Given the description of an element on the screen output the (x, y) to click on. 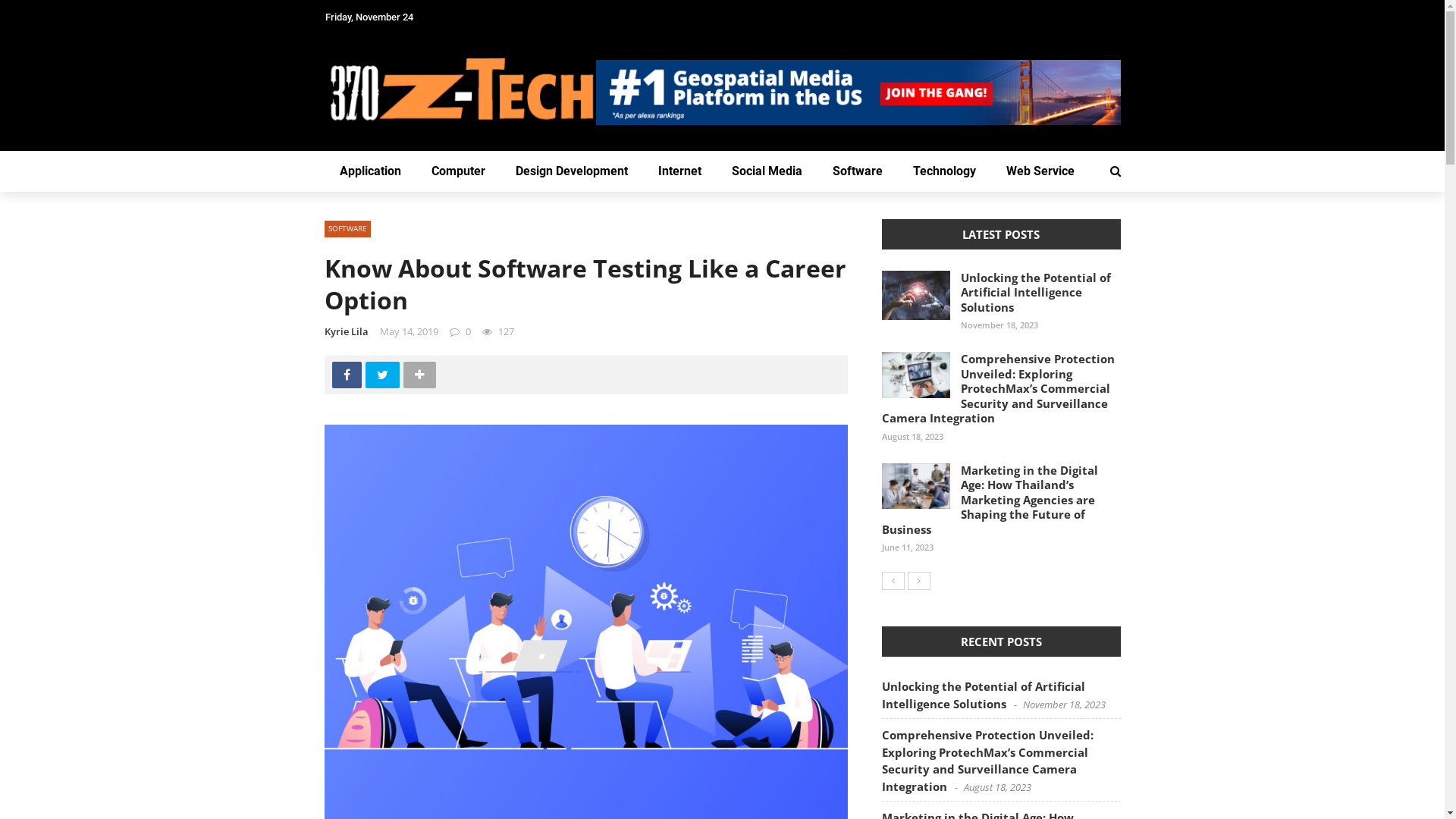
Kyrie Lila Element type: text (346, 331)
SOFTWARE Element type: text (347, 228)
Twitter Element type: hover (381, 374)
Next Element type: hover (917, 580)
Unlocking the Potential of Artificial Intelligence Solutions Element type: text (982, 694)
Software Element type: text (857, 170)
Internet Element type: text (679, 170)
Technology Element type: text (944, 170)
Facebook Element type: hover (345, 374)
Previous Element type: hover (892, 580)
Social Media Element type: text (765, 170)
Unlocking the Potential of Artificial Intelligence Solutions Element type: text (1035, 291)
Application Element type: text (370, 170)
Computer Element type: text (457, 170)
Design Development Element type: text (571, 170)
Web Service Element type: text (1039, 170)
